Given the description of an element on the screen output the (x, y) to click on. 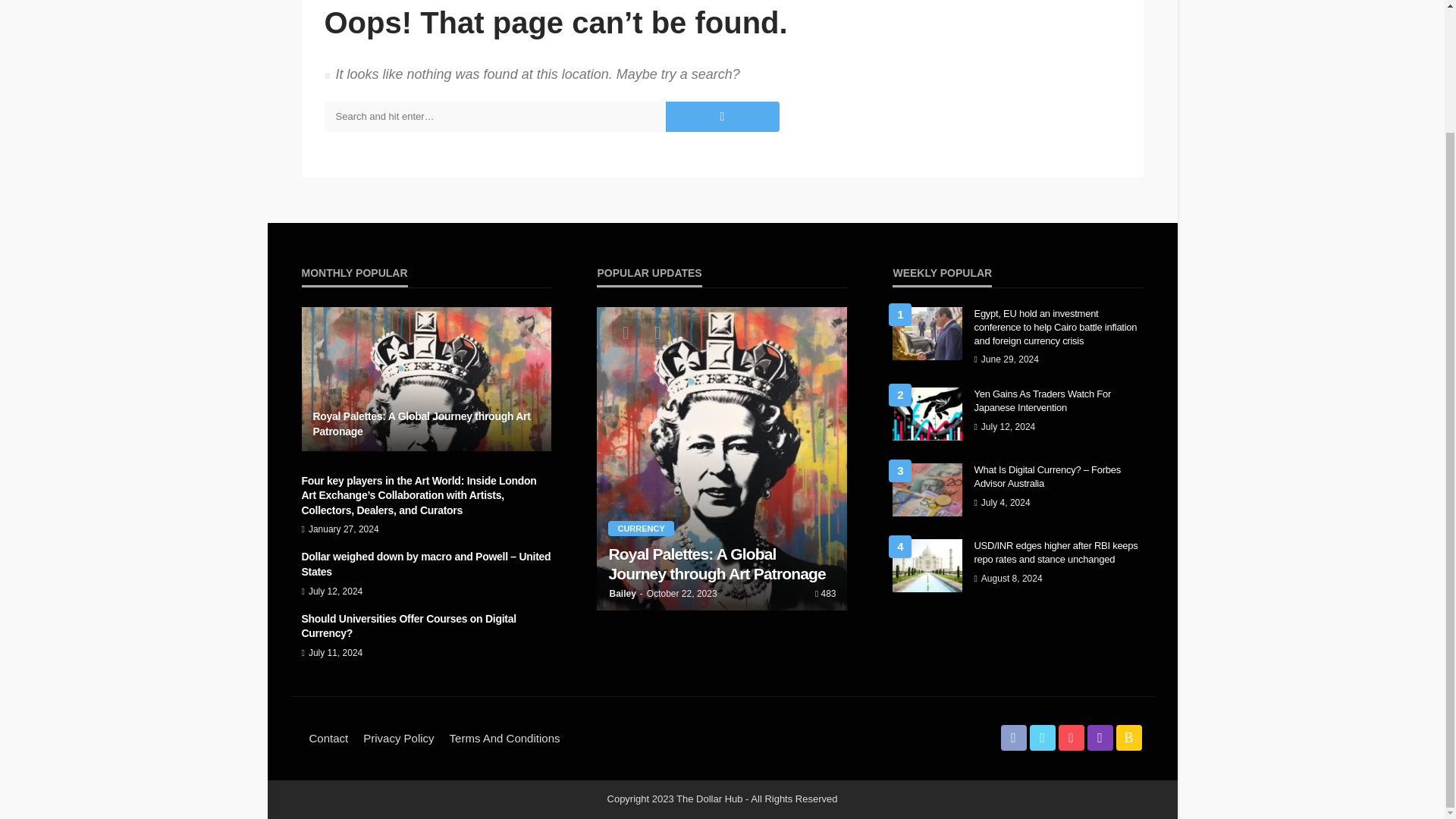
Search for: (494, 116)
Royal Palettes: A Global Journey through Art Patronage (426, 423)
Bailey (621, 593)
Should Universities Offer Courses on Digital Currency? (426, 626)
CURRENCY (640, 528)
Should Universities Offer Courses on Digital Currency? (426, 626)
Royal Palettes: A Global Journey through Art Patronage (426, 379)
Royal Palettes: A Global Journey through Art Patronage (426, 423)
Royal Palettes: A Global Journey through Art Patronage (721, 564)
